Given the description of an element on the screen output the (x, y) to click on. 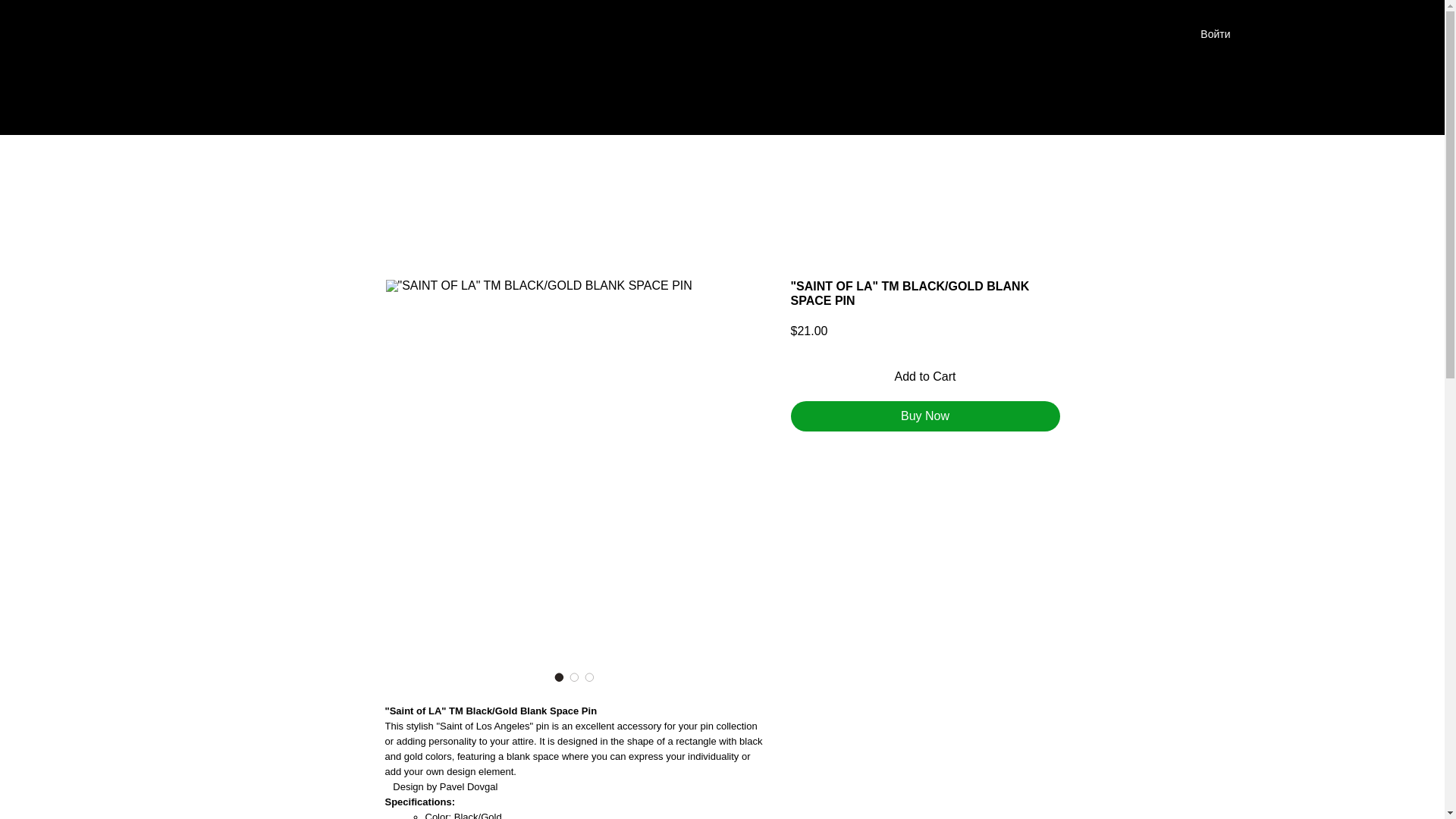
Buy Now (924, 416)
Add to Cart (924, 376)
